Given the description of an element on the screen output the (x, y) to click on. 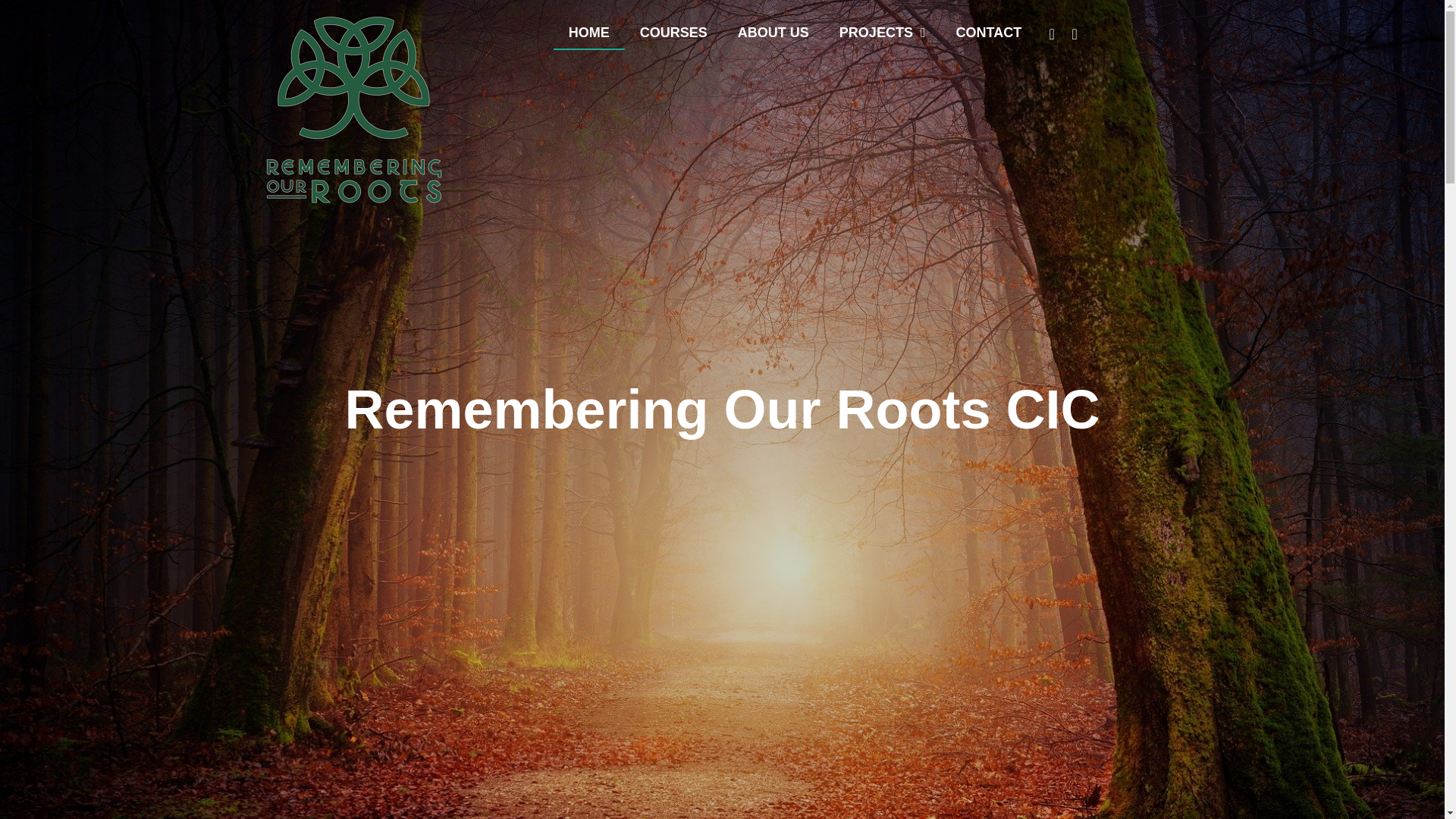
COURSES (673, 32)
ABOUT US (773, 32)
CONTACT (988, 32)
HOME (588, 32)
PROJECTS (882, 32)
